Given the description of an element on the screen output the (x, y) to click on. 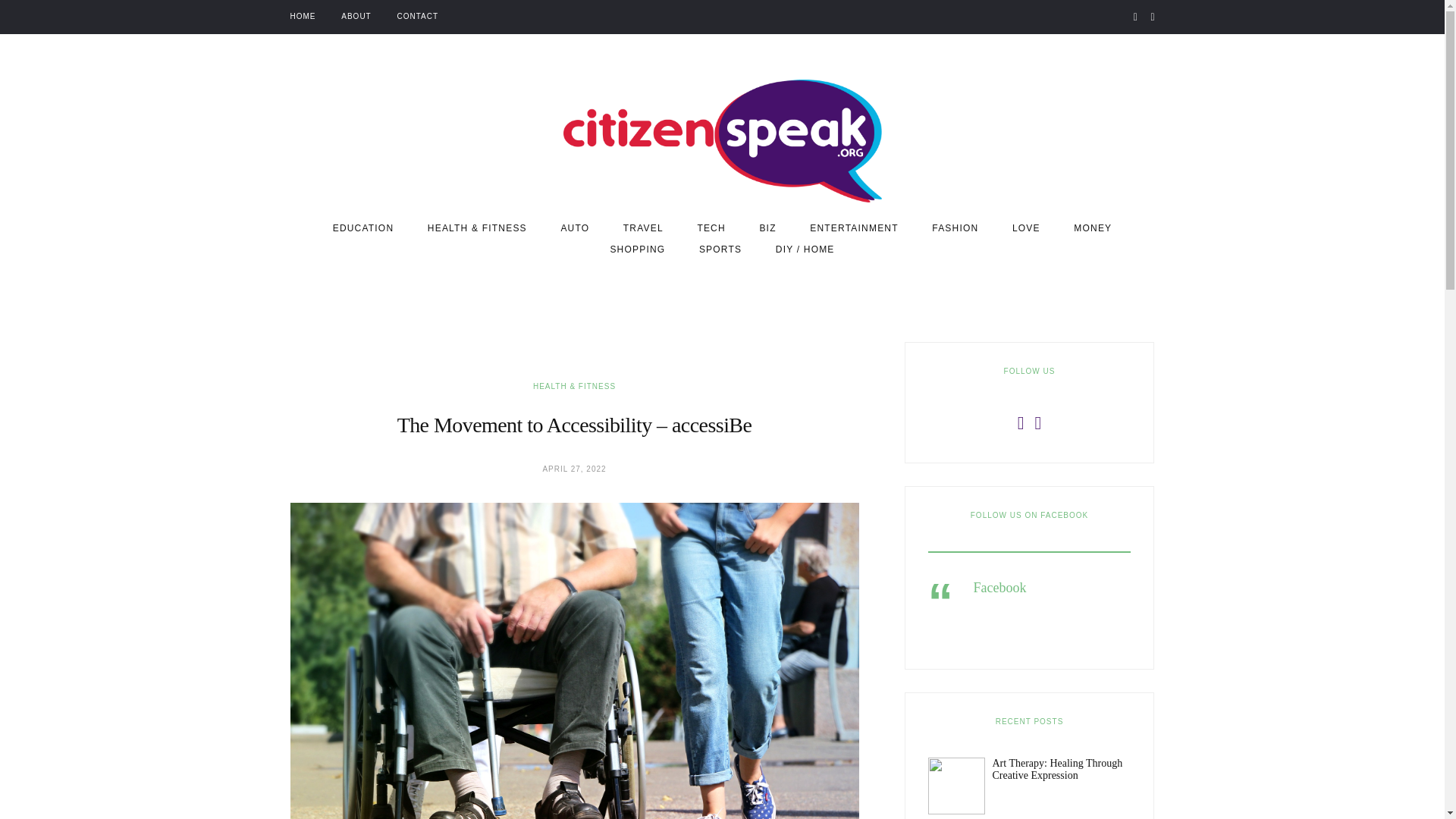
HOME ABOUT CONTACT (364, 16)
AUTO (574, 228)
ABOUT (355, 16)
Art Therapy: Healing Through Creative Expression (1056, 769)
Facebook (1000, 587)
MONEY (1093, 228)
SHOPPING (637, 249)
ENTERTAINMENT (853, 228)
TECH (711, 228)
LOVE (1026, 228)
CONTACT (418, 16)
FASHION (954, 228)
HOME (302, 16)
TRAVEL (643, 228)
EDUCATION (363, 228)
